Given the description of an element on the screen output the (x, y) to click on. 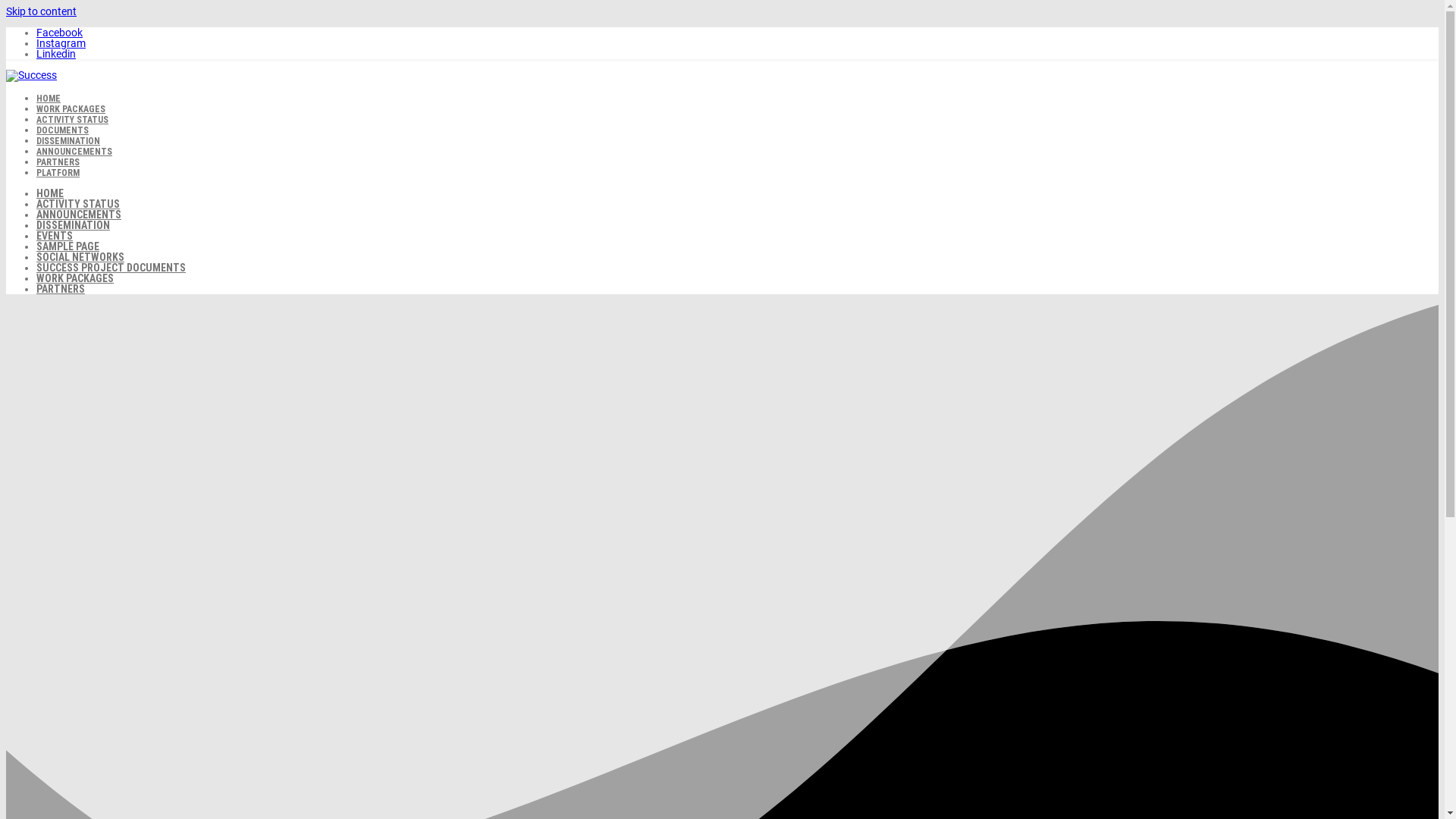
ANNOUNCEMENTS Element type: text (78, 214)
SAMPLE PAGE Element type: text (67, 246)
WORK PACKAGES Element type: text (70, 108)
PLATFORM Element type: text (57, 172)
HOME Element type: text (48, 98)
Skip to content Element type: text (41, 11)
DOCUMENTS Element type: text (62, 130)
SUCCESS PROJECT DOCUMENTS Element type: text (110, 267)
EVENTS Element type: text (54, 235)
HOME Element type: text (49, 193)
WORK PACKAGES Element type: text (74, 278)
ACTIVITY STATUS Element type: text (77, 203)
SOCIAL NETWORKS Element type: text (80, 257)
DISSEMINATION Element type: text (72, 225)
Success Element type: hover (31, 75)
Facebook Element type: text (59, 32)
Instagram Element type: text (60, 43)
DISSEMINATION Element type: text (68, 140)
ANNOUNCEMENTS Element type: text (74, 151)
Linkedin Element type: text (55, 53)
PARTNERS Element type: text (60, 288)
PARTNERS Element type: text (57, 161)
ACTIVITY STATUS Element type: text (72, 119)
